Given the description of an element on the screen output the (x, y) to click on. 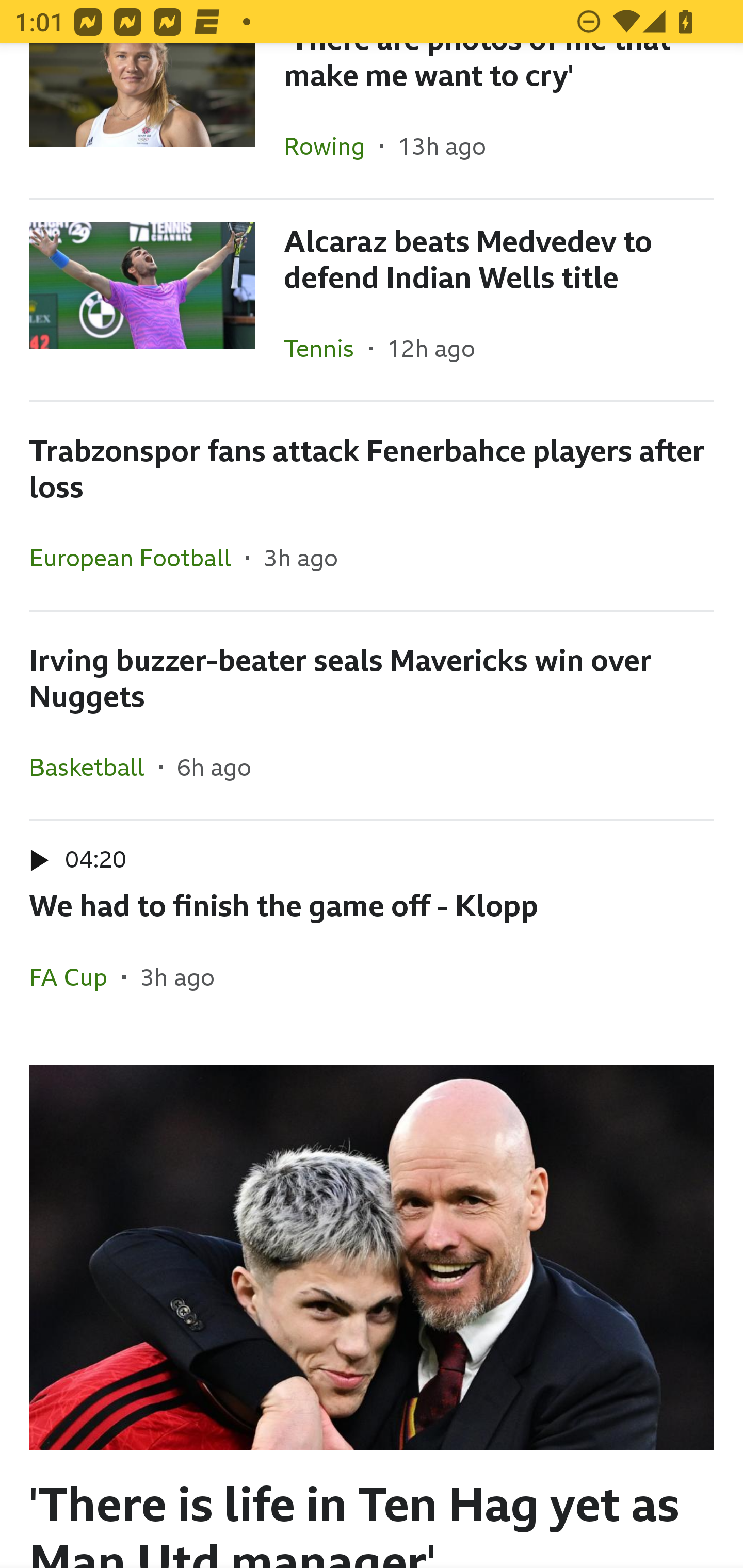
Rowing In the section Rowing (331, 145)
Tennis In the section Tennis (326, 347)
European Football In the section European Football (136, 556)
Basketball In the section Basketball (93, 766)
FA Cup In the section FA Cup (75, 976)
'There is life in Ten Hag yet as Man Utd manager' (371, 1298)
